Given the description of an element on the screen output the (x, y) to click on. 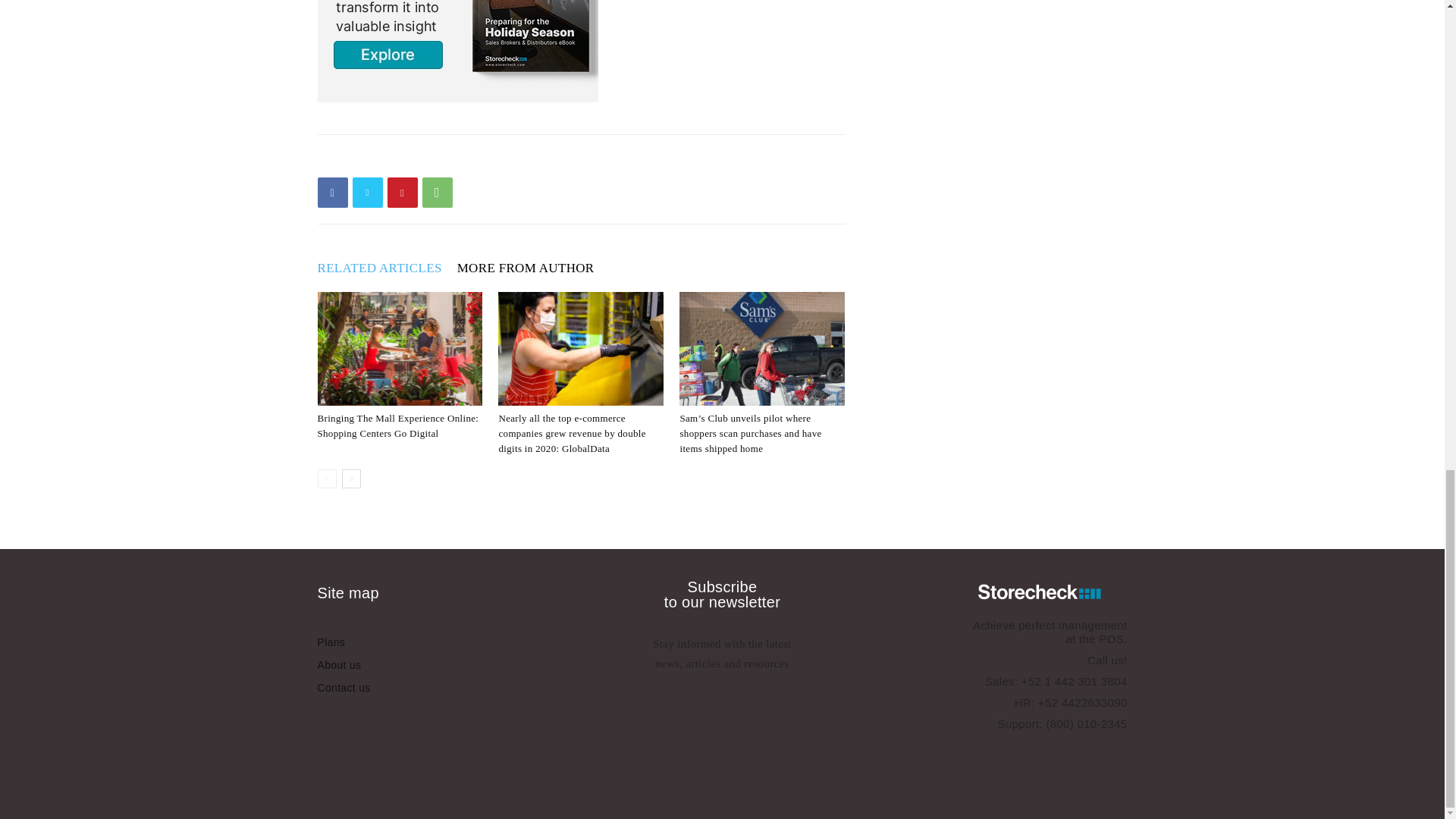
RELATED ARTICLES (387, 268)
MORE FROM AUTHOR (533, 268)
